Given the description of an element on the screen output the (x, y) to click on. 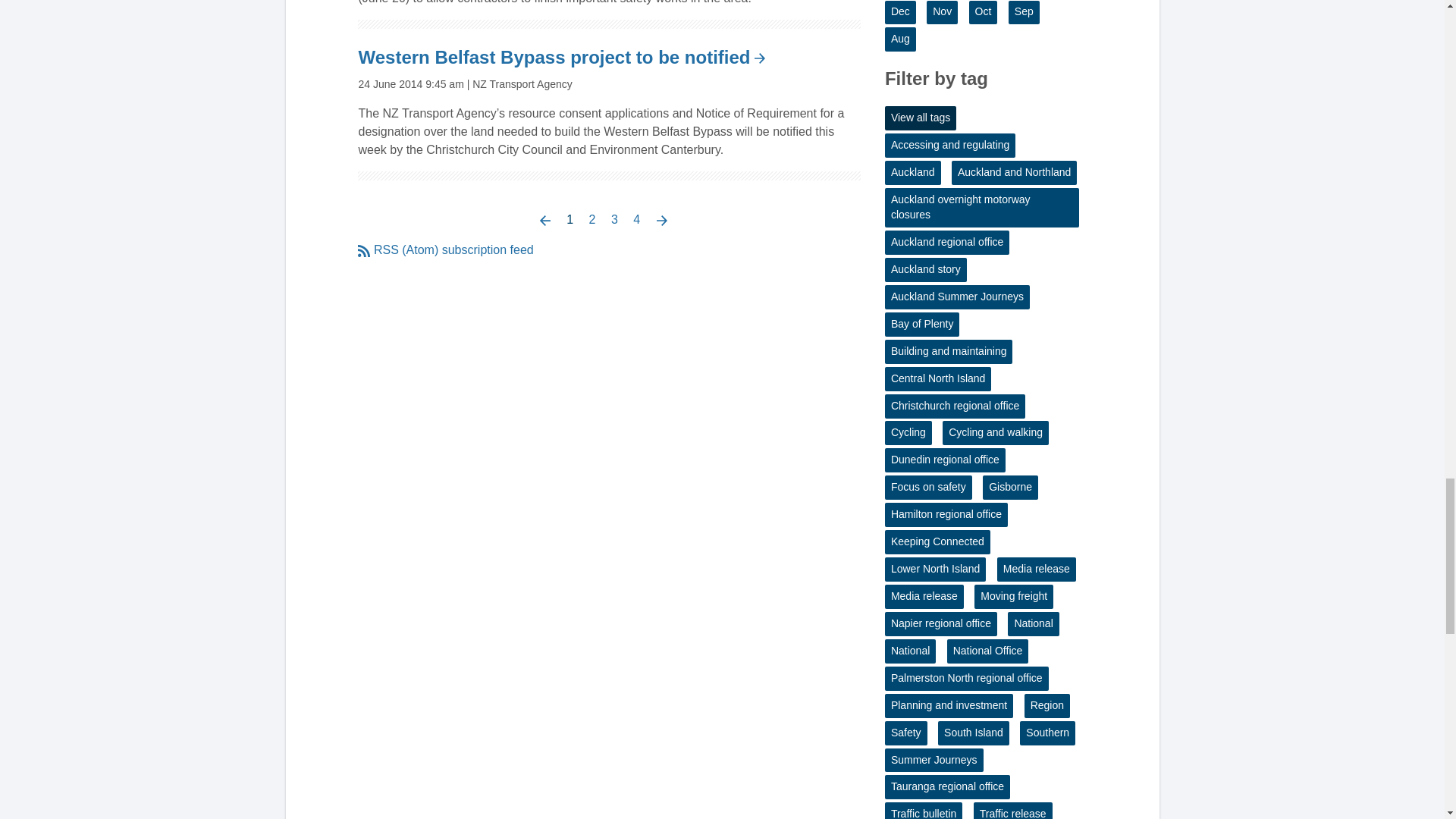
View all tags (920, 118)
View items tagged Auckland (912, 172)
View items tagged Bay of Plenty (922, 324)
View items tagged Auckland regional office (947, 242)
View items tagged Building and maintaining (949, 351)
View items tagged Christchurch regional office (955, 405)
View items tagged Focus on safety (928, 487)
View items tagged Auckland story (925, 269)
View items tagged Hamilton regional office (946, 514)
View items tagged Accessing and regulating (949, 145)
